Given the description of an element on the screen output the (x, y) to click on. 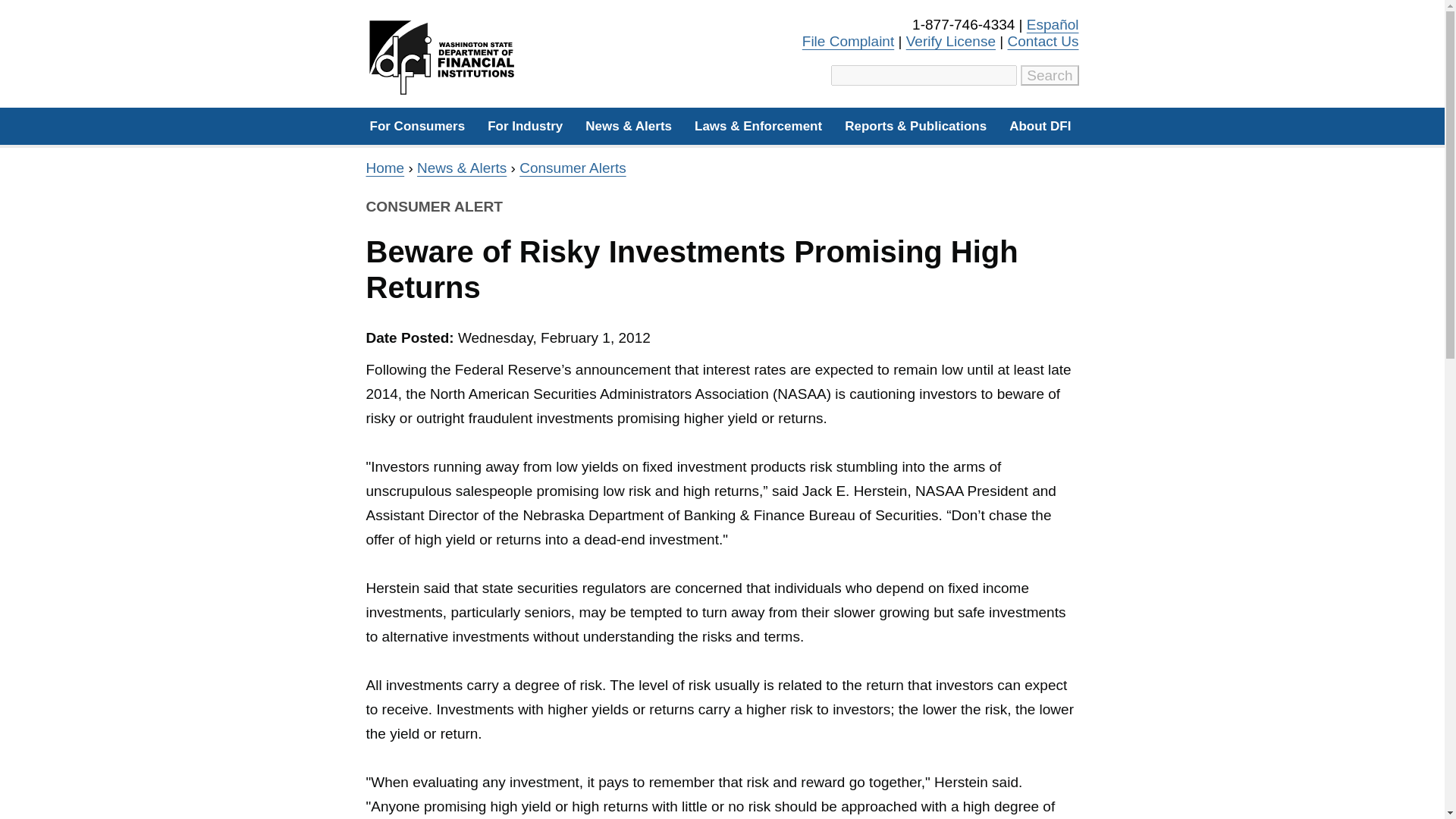
Contact Us (1042, 41)
For Consumers (417, 126)
About DFI (1039, 126)
Consumer Alerts (572, 167)
Verify License (950, 41)
File Complaint (847, 41)
Search (1049, 75)
For Industry (524, 126)
Home (443, 57)
Home (384, 167)
